Given the description of an element on the screen output the (x, y) to click on. 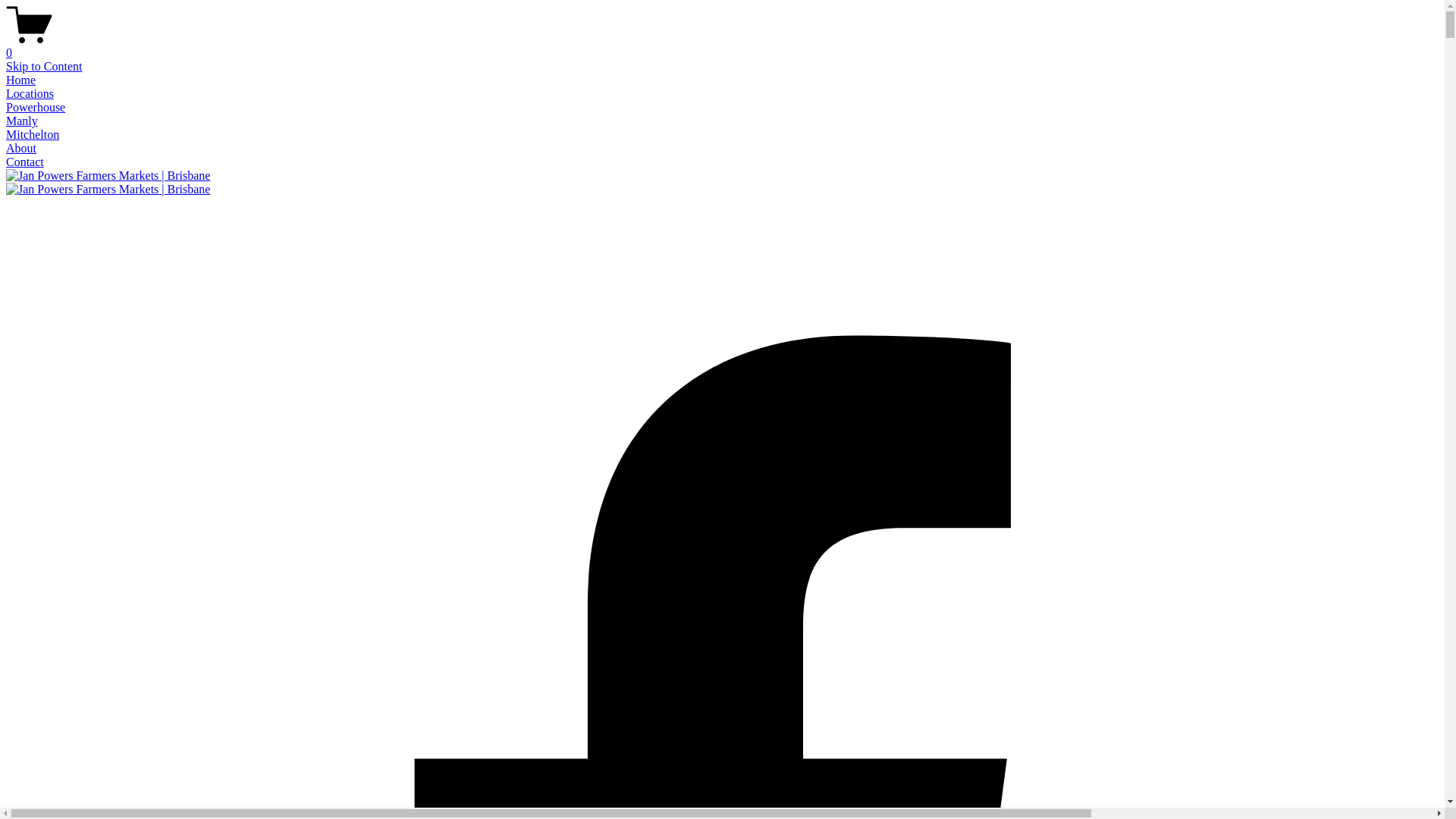
Powerhouse Element type: text (35, 106)
Manly Element type: text (21, 120)
Locations Element type: text (29, 93)
Contact Element type: text (24, 161)
Home Element type: text (20, 79)
About Element type: text (21, 147)
Mitchelton Element type: text (32, 134)
Skip to Content Element type: text (43, 65)
0 Element type: text (722, 45)
